Given the description of an element on the screen output the (x, y) to click on. 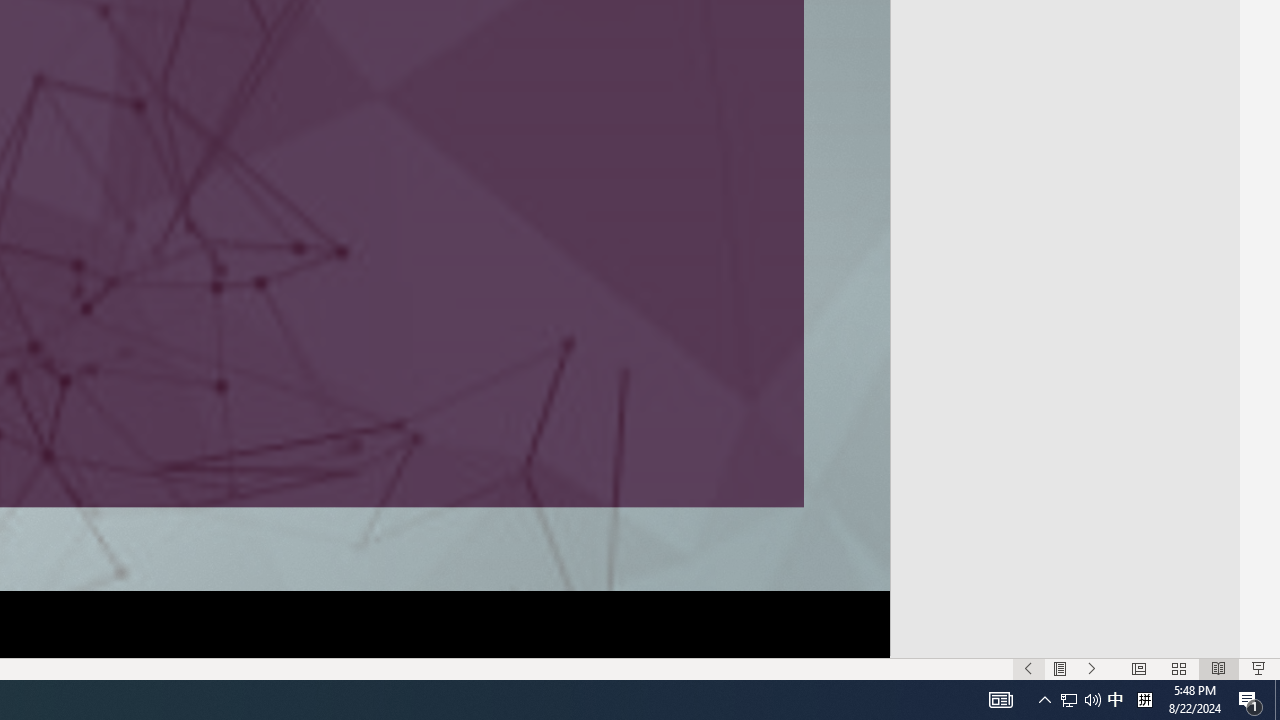
Slide Show Previous On (1028, 668)
Menu On (1060, 668)
Slide Show Next On (1092, 668)
